Given the description of an element on the screen output the (x, y) to click on. 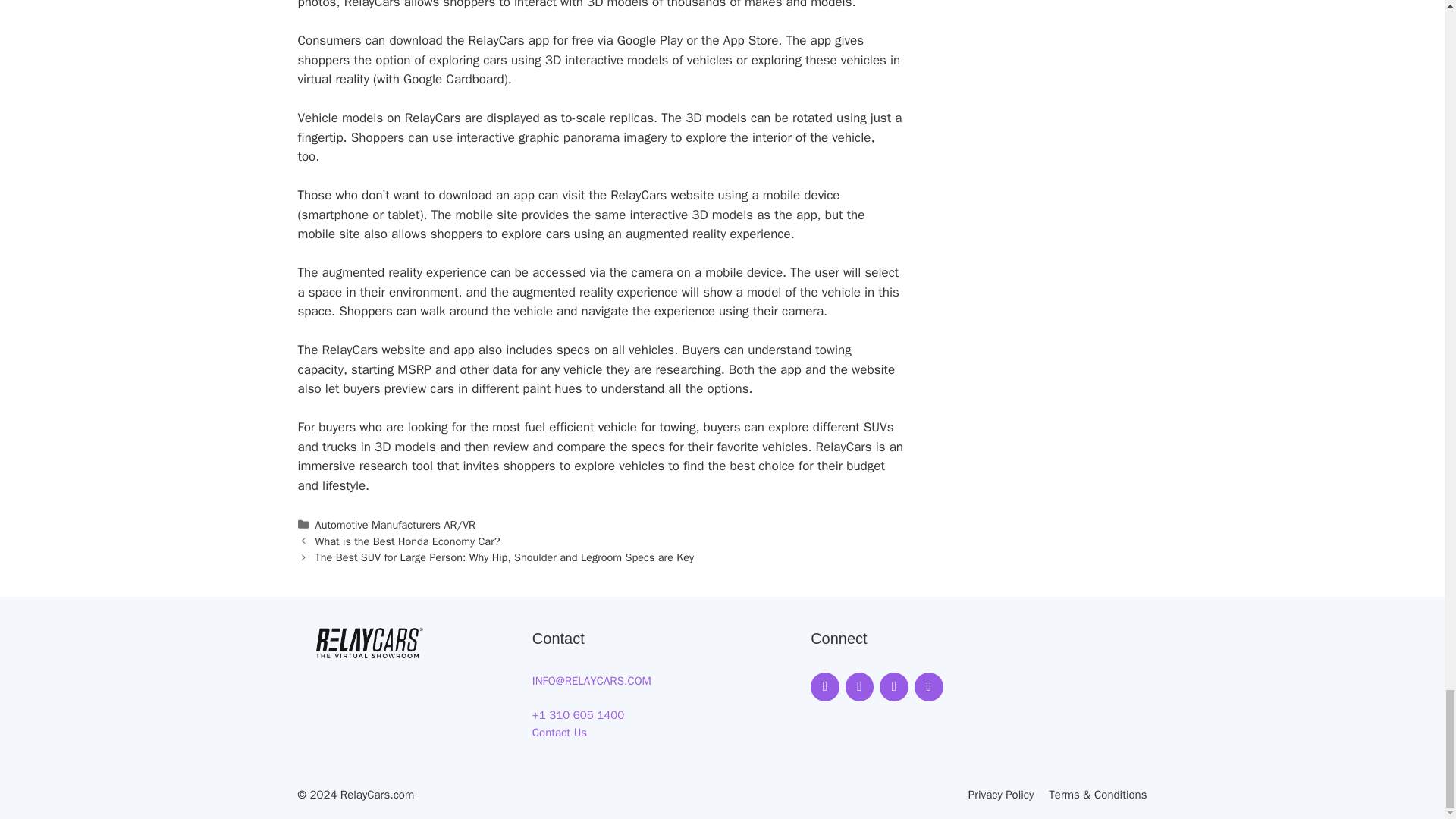
Facebook (825, 686)
LinkedIn (928, 686)
What is the Best Honda Economy Car? (407, 540)
Twitter (893, 686)
augmented reality experience (708, 233)
Instagram (860, 686)
